Given the description of an element on the screen output the (x, y) to click on. 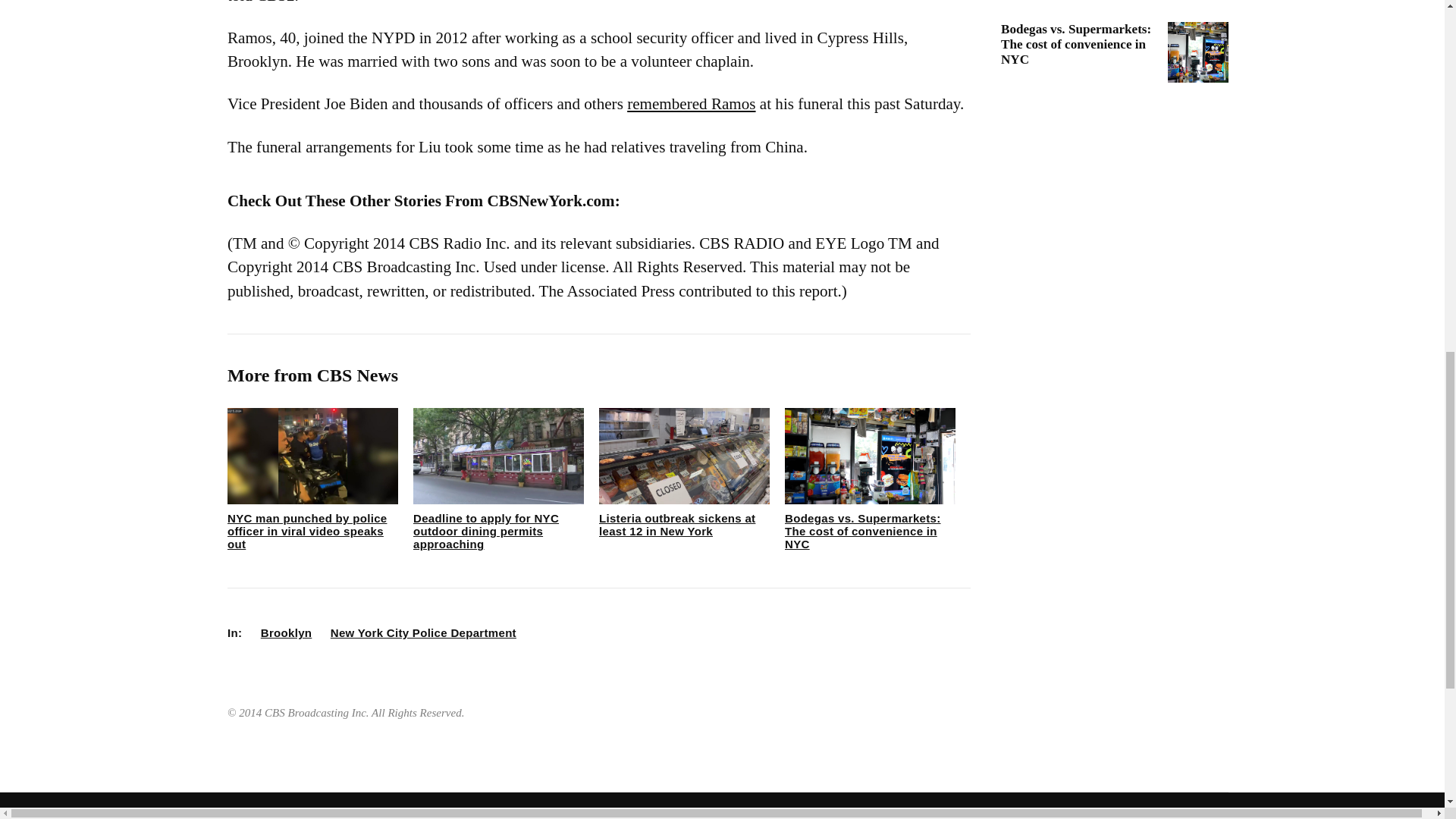
Thousands Attend Funeral For Fallen Officer Rafael Ramos (691, 104)
